Given the description of an element on the screen output the (x, y) to click on. 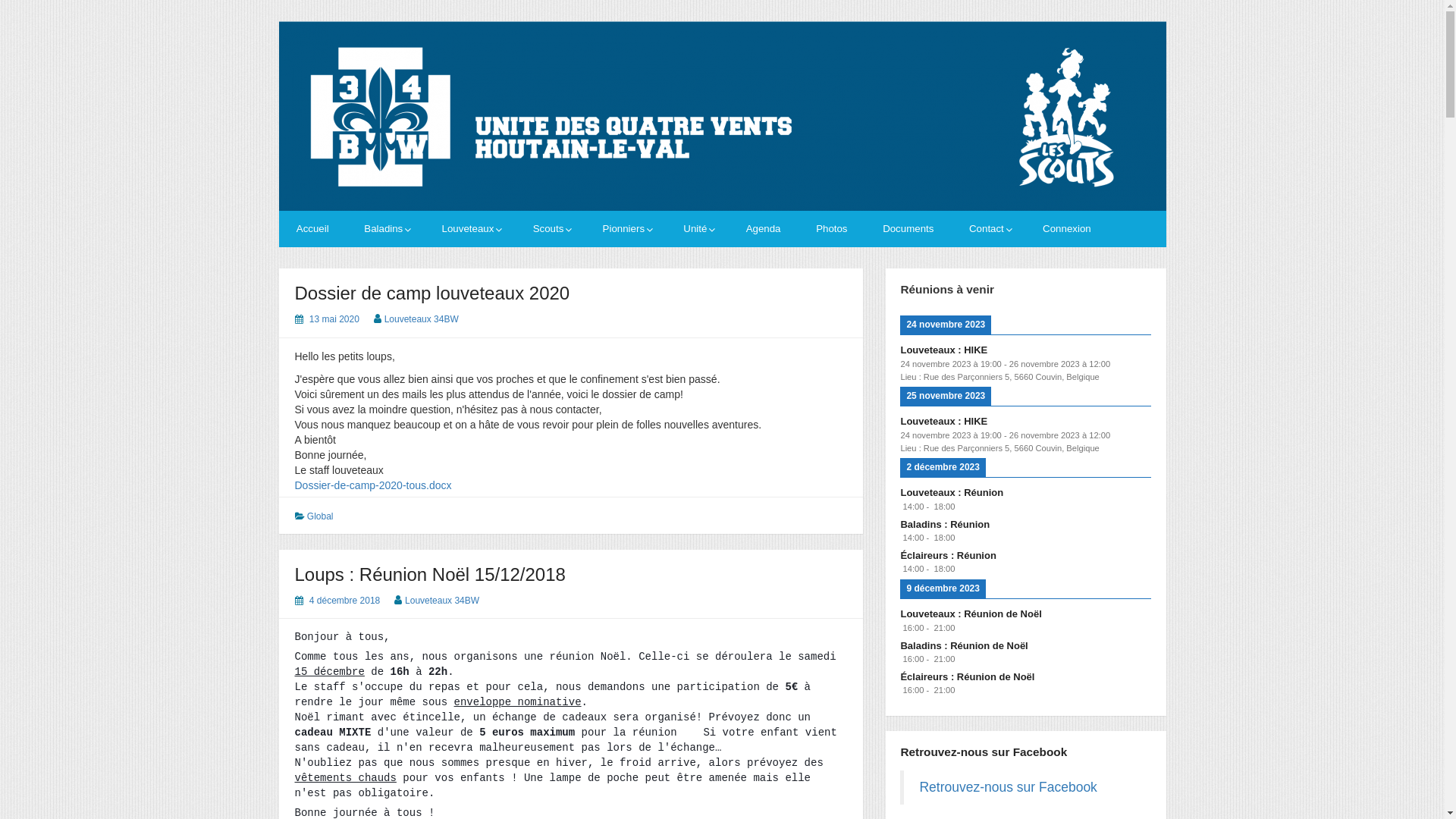
Dossier-de-camp-2020-tous.docx Element type: text (372, 485)
13 mai 2020 Element type: text (334, 318)
Photos Element type: text (831, 228)
Retrouvez-nous sur Facebook Element type: text (983, 751)
Documents Element type: text (908, 228)
Agenda Element type: text (762, 228)
Connexion Element type: text (1066, 228)
Louveteaux 34BW Element type: text (421, 318)
Louveteaux 34BW Element type: text (441, 600)
Retrouvez-nous sur Facebook Element type: text (1007, 786)
Pionniers Element type: text (625, 228)
Louveteaux Element type: text (469, 228)
Scouts Element type: text (549, 228)
Baladins Element type: text (385, 228)
Contact Element type: text (988, 228)
Dossier de camp louveteaux 2020 Element type: text (431, 292)
Accueil Element type: text (312, 228)
Global Element type: text (320, 516)
